Given the description of an element on the screen output the (x, y) to click on. 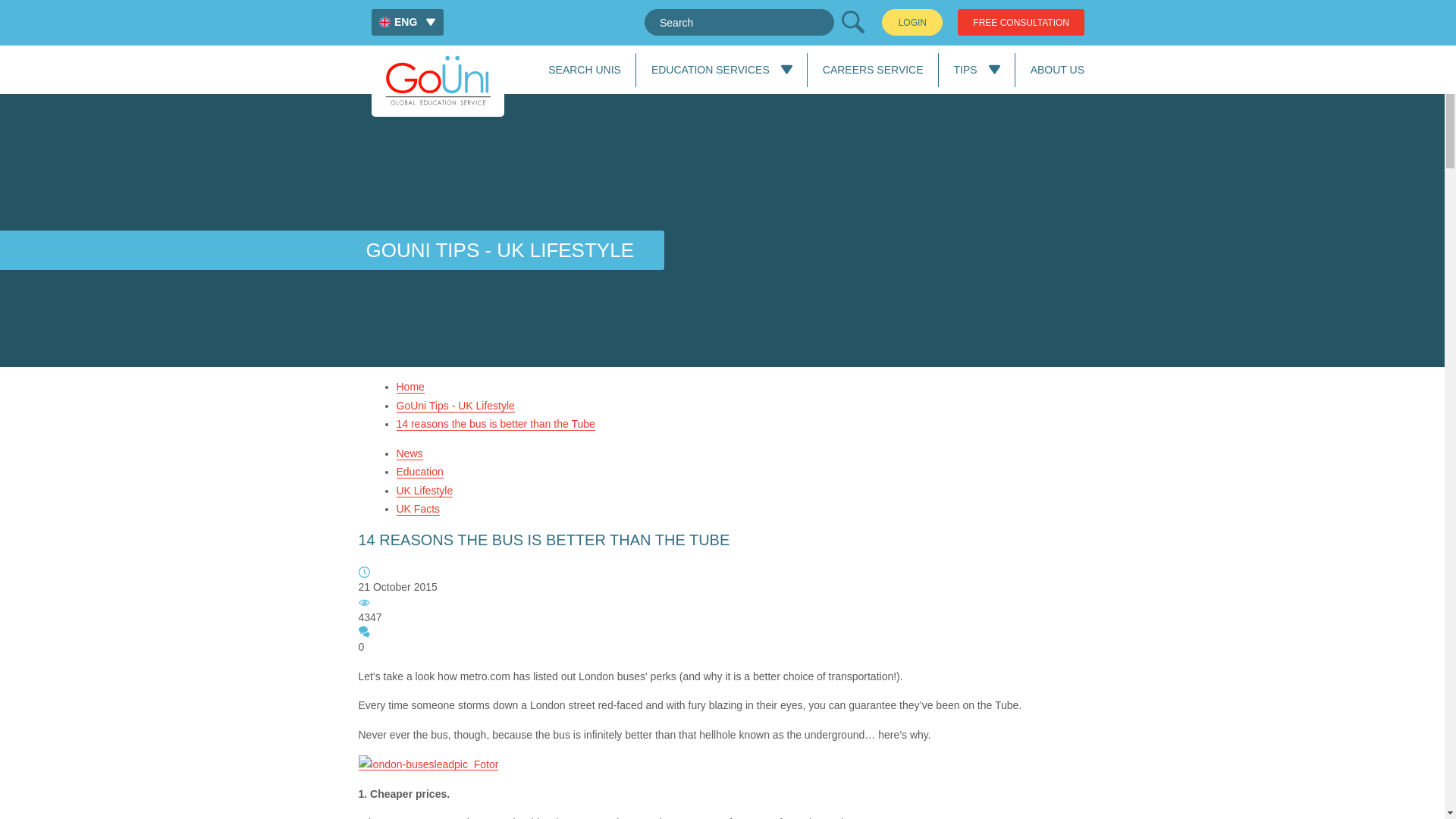
GoUni Tips - UK Lifestyle (454, 404)
SEARCH UNIS (584, 69)
ABOUT US (1057, 69)
Login (912, 22)
Services (710, 69)
Home (409, 386)
GoUni Homepage (437, 79)
Education (419, 472)
14 reasons the bus is better than the Tube (495, 423)
ENG (407, 22)
CAREERS SERVICE (872, 69)
UK Lifestyle (424, 490)
English (407, 22)
Free Consultation (1021, 22)
Tips (964, 69)
